Given the description of an element on the screen output the (x, y) to click on. 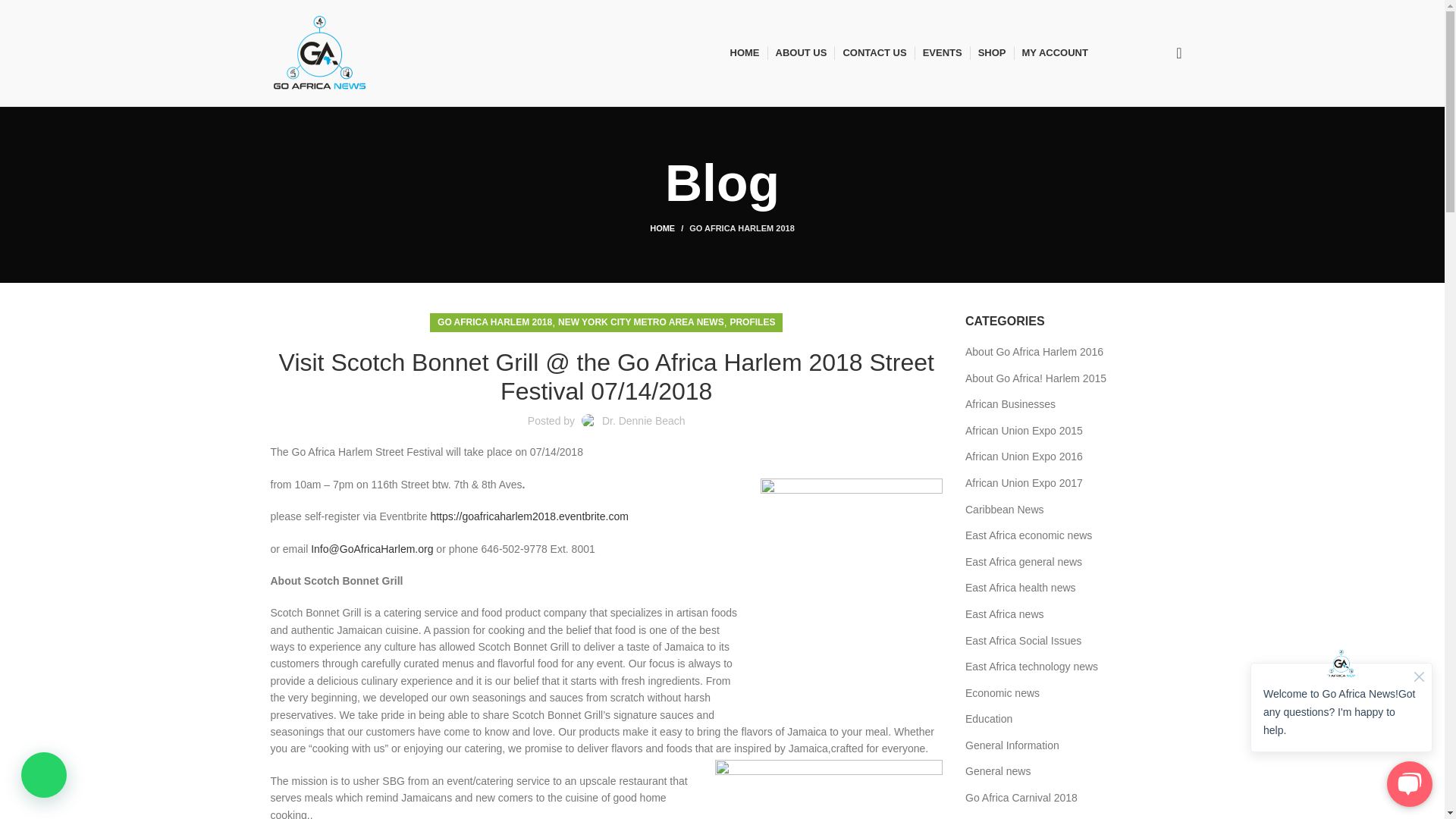
ABOUT US (800, 52)
CONTACT US (874, 52)
SHOP (992, 52)
EVENTS (942, 52)
GO AFRICA HARLEM 2018 (741, 227)
MY ACCOUNT (1054, 52)
HOME (743, 52)
HOME (668, 227)
PROFILES (751, 322)
GO AFRICA HARLEM 2018 (494, 322)
NEW YORK CITY METRO AREA NEWS (640, 322)
Dr. Dennie Beach (643, 420)
